Given the description of an element on the screen output the (x, y) to click on. 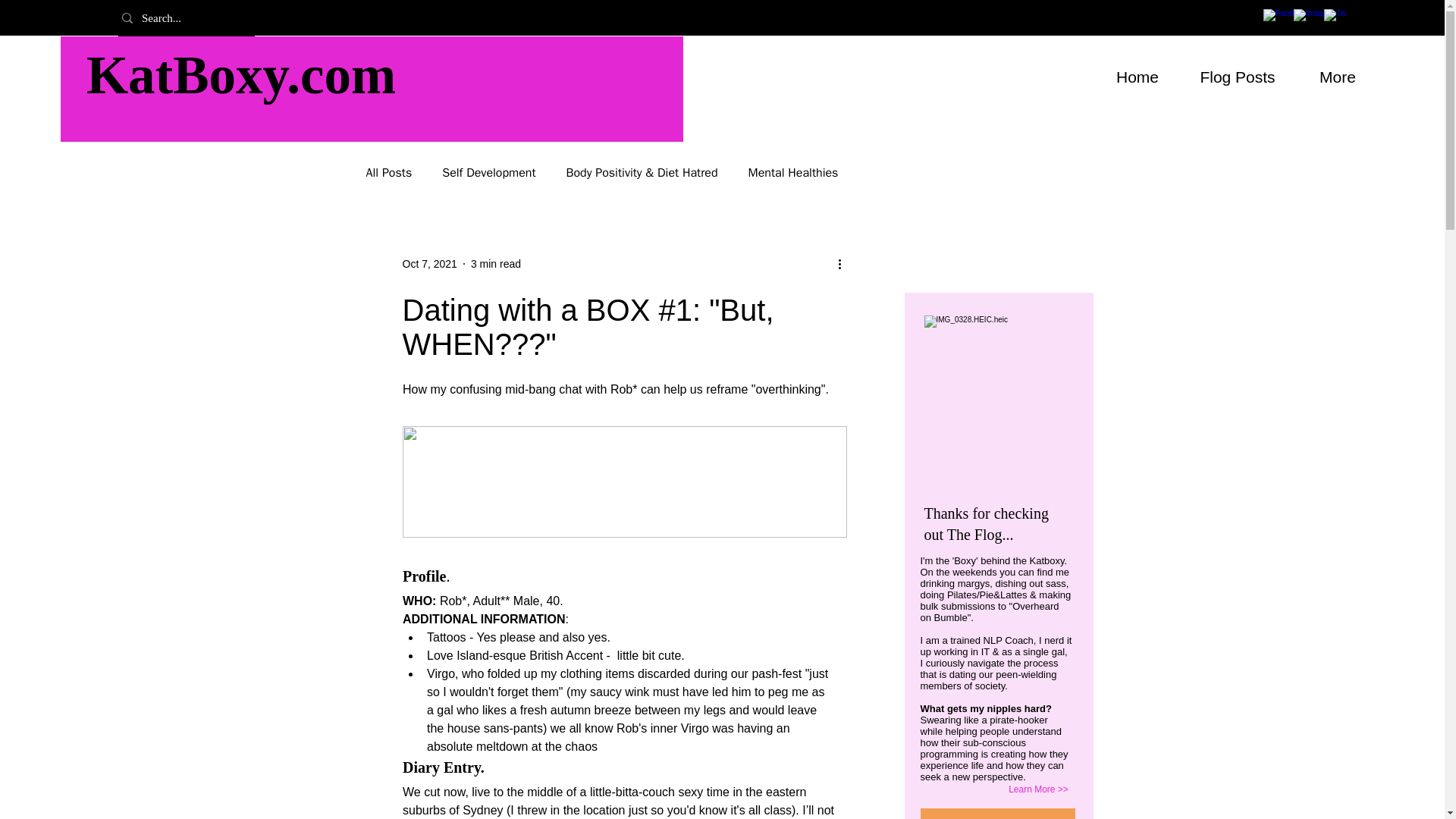
KatBoxy.com (240, 74)
Flog Posts (1237, 73)
Mental Healthies (793, 172)
Home (1137, 73)
3 min read (495, 263)
Oct 7, 2021 (429, 263)
Self Development (488, 172)
All Posts (388, 172)
